Given the description of an element on the screen output the (x, y) to click on. 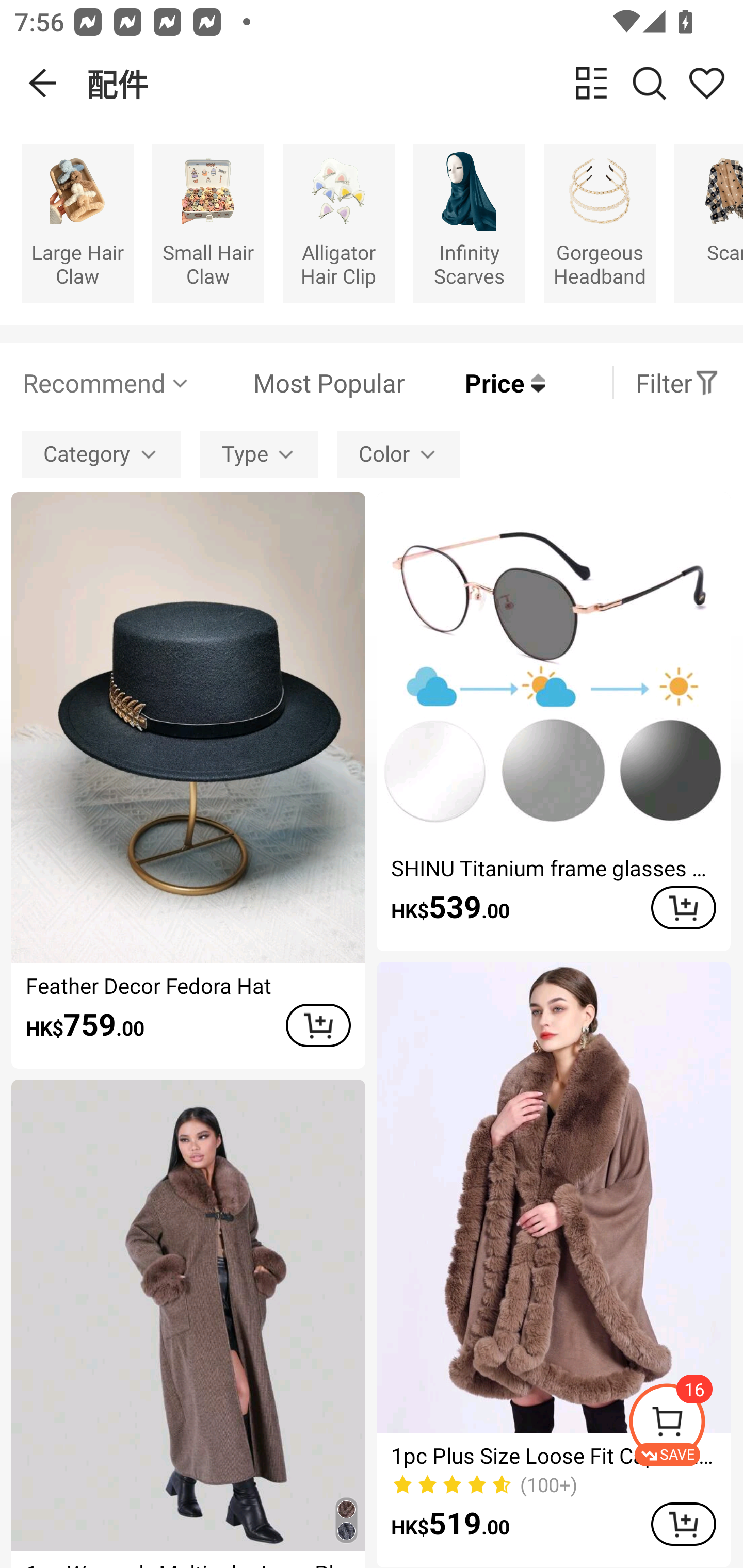
配件 change view Search Share (414, 82)
change view (591, 82)
Search (648, 82)
Share (706, 82)
Large Hair Claw (77, 223)
Small Hair Claw (208, 223)
Alligator Hair Clip (338, 223)
Infinity Scarves (469, 223)
Gorgeous Headband (599, 223)
Scarf (708, 223)
Recommend (106, 382)
Most Popular (297, 382)
Price (474, 382)
Filter (677, 382)
Category (101, 454)
Type (258, 454)
Color (397, 454)
ADD TO CART (683, 907)
ADD TO CART (318, 1025)
SAVE (685, 1424)
ADD TO CART (683, 1524)
